Given the description of an element on the screen output the (x, y) to click on. 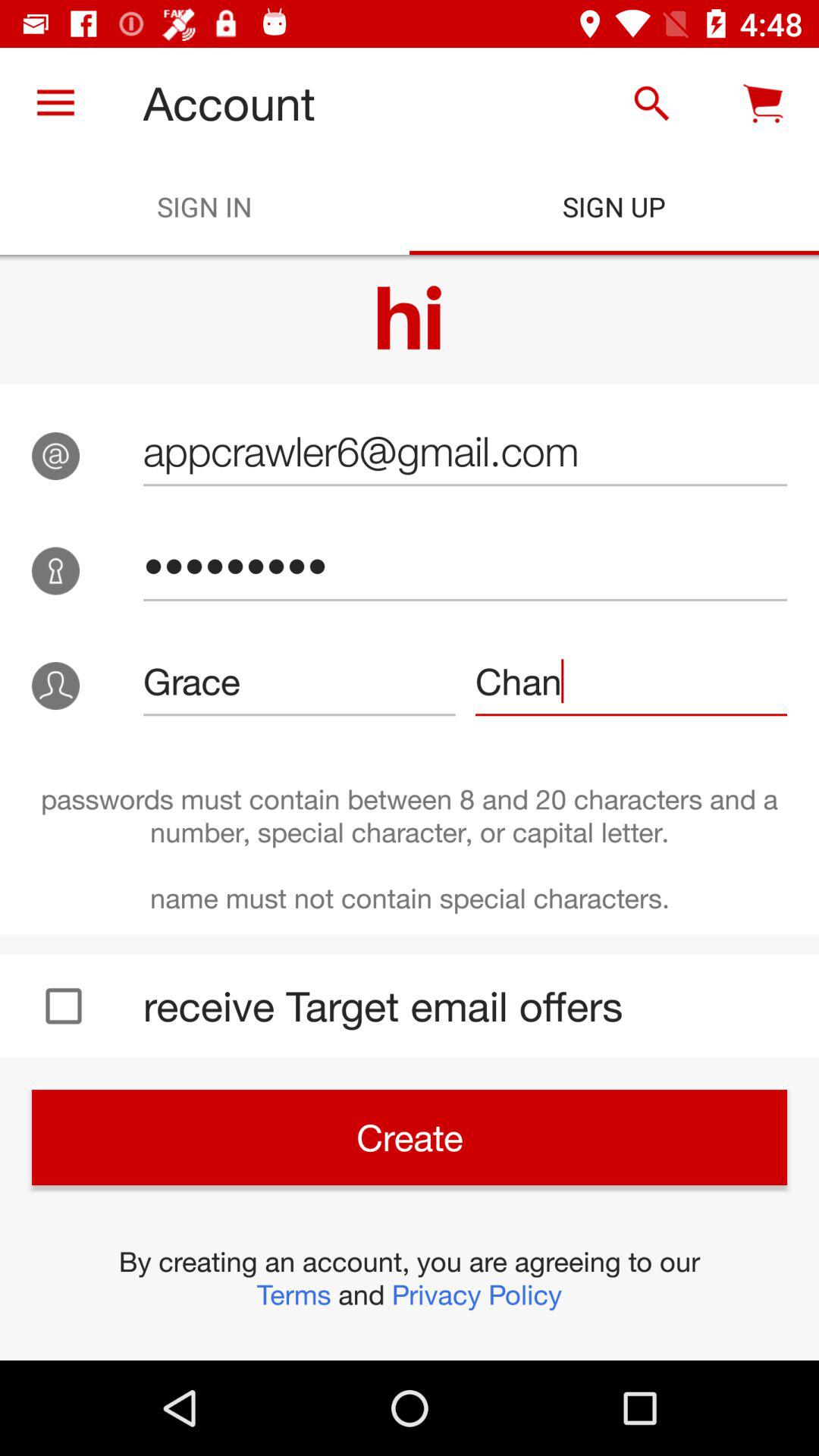
choose the icon to the right of grace icon (631, 681)
